Given the description of an element on the screen output the (x, y) to click on. 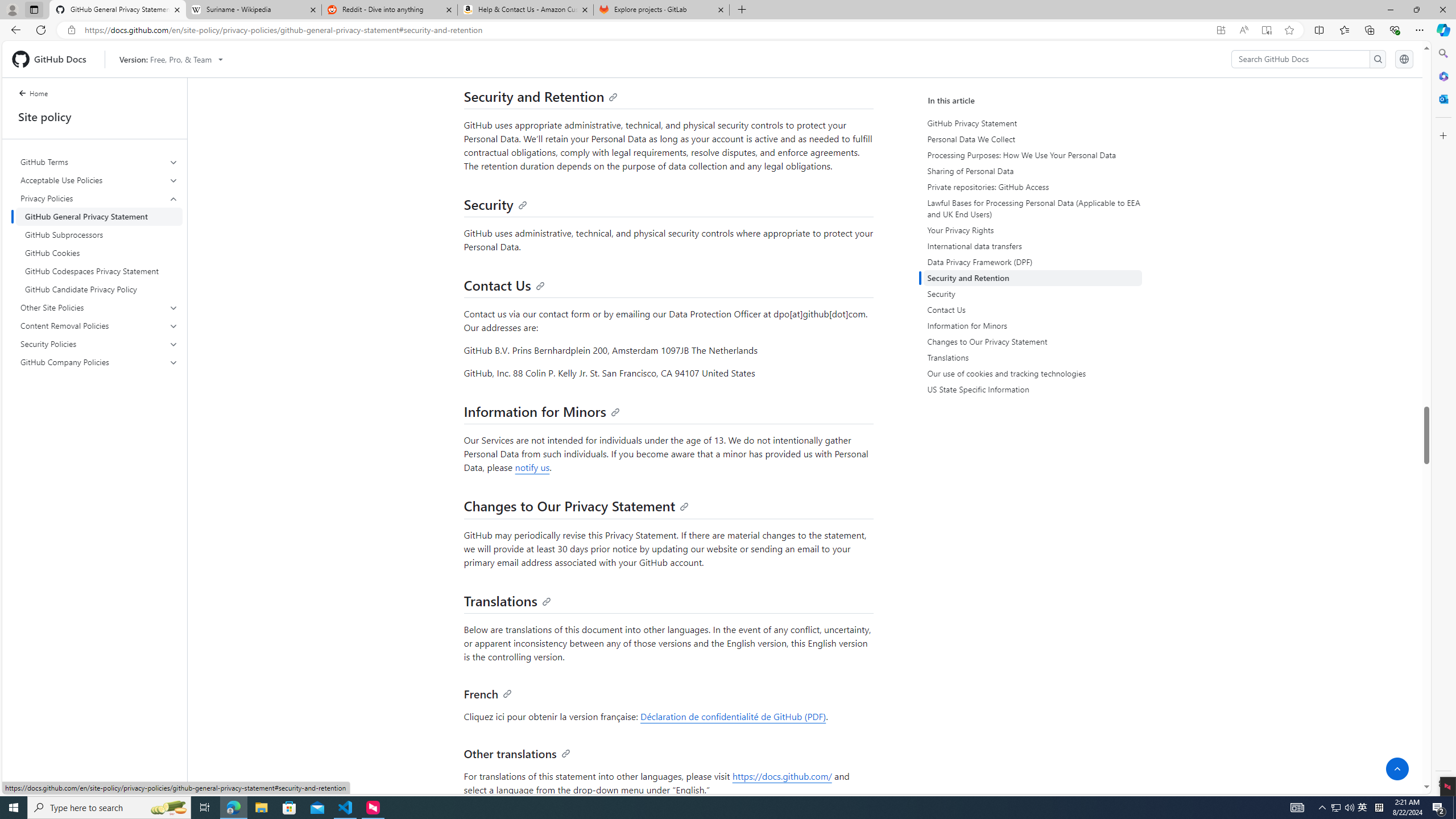
Security Policies (99, 343)
Content Removal Policies (99, 325)
GitHub Codespaces Privacy Statement (99, 271)
Security (1032, 293)
French (487, 693)
Translations (507, 600)
